Given the description of an element on the screen output the (x, y) to click on. 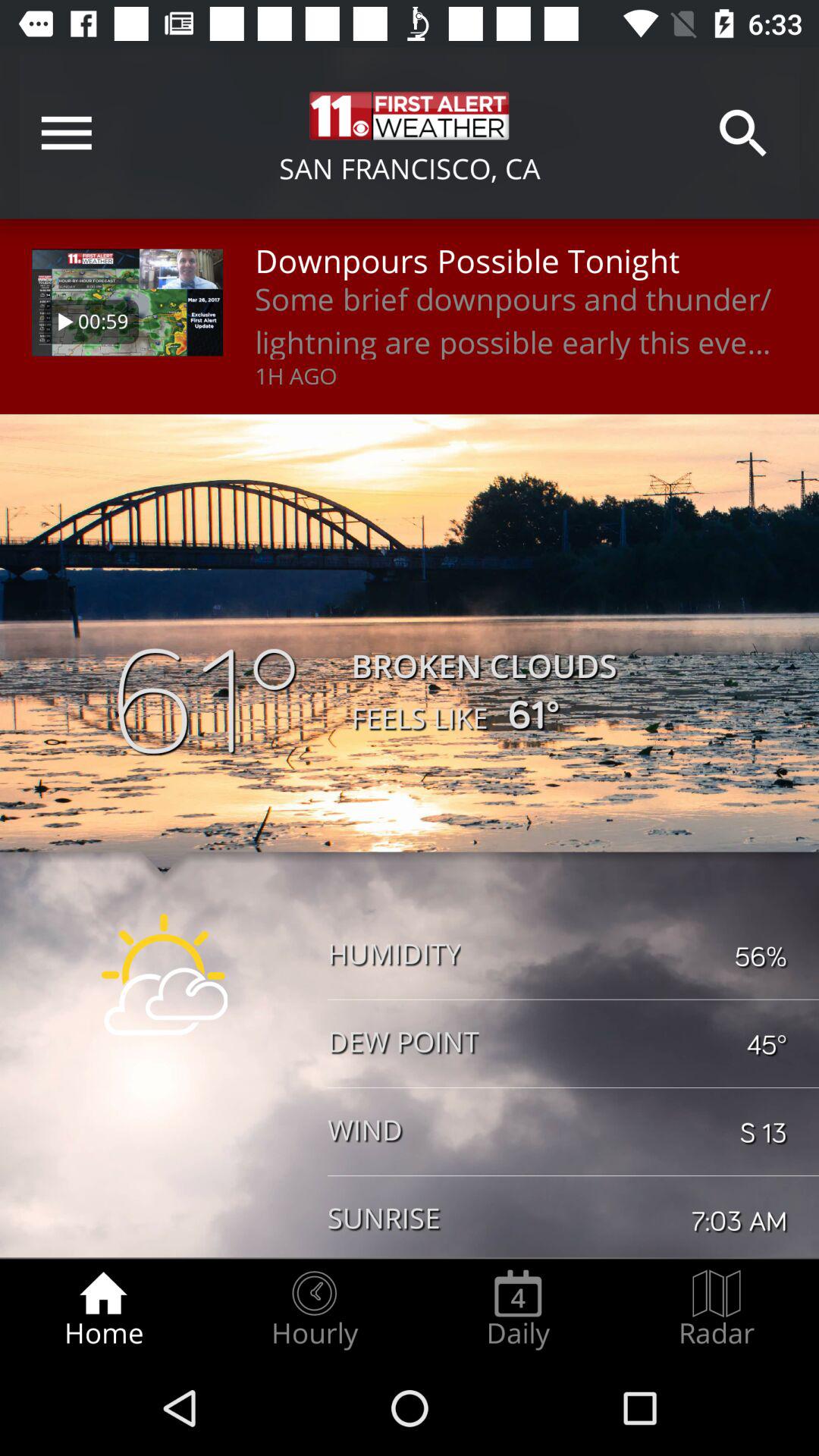
turn on radio button next to the daily item (314, 1309)
